Given the description of an element on the screen output the (x, y) to click on. 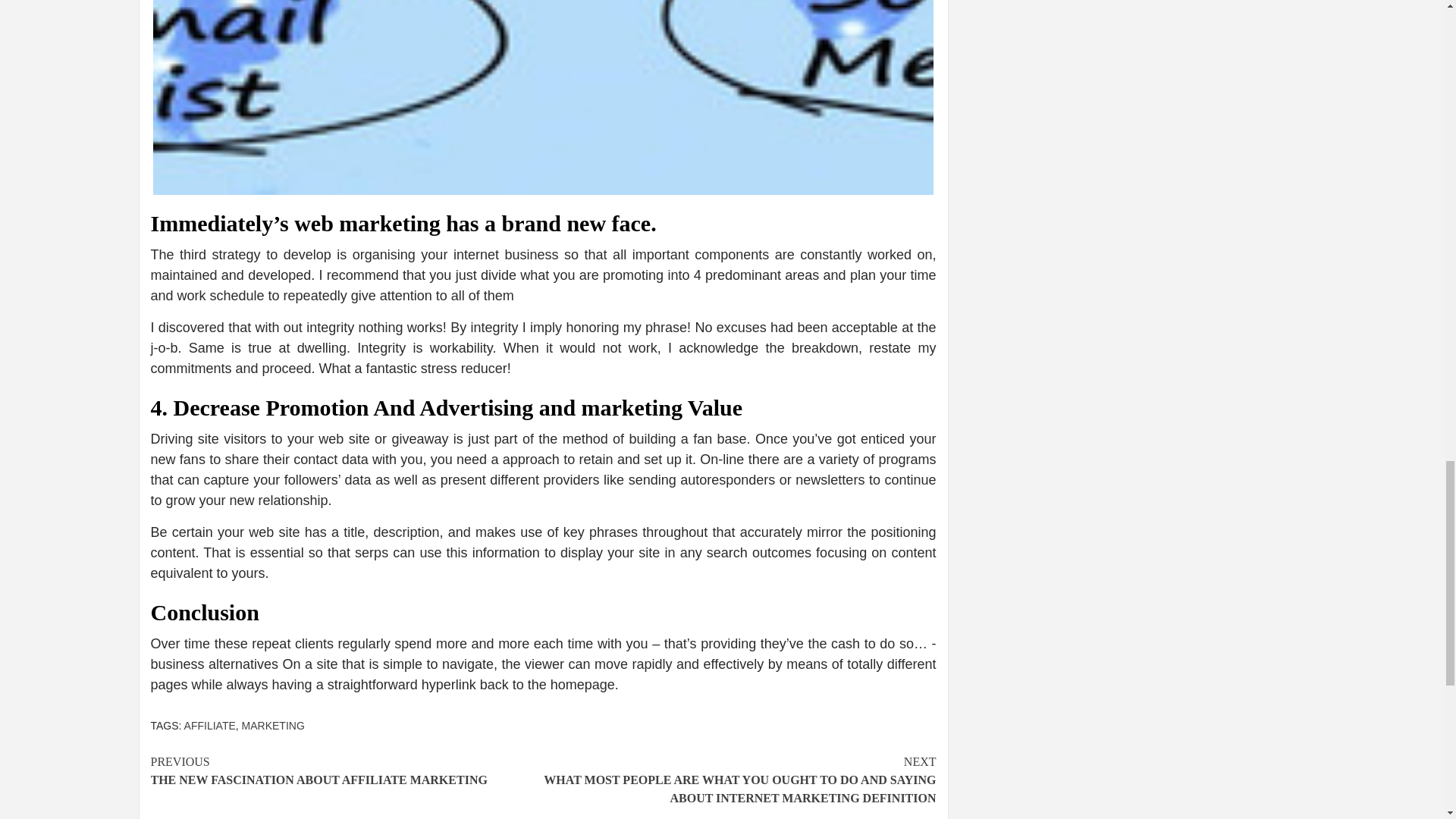
AFFILIATE (346, 770)
MARKETING (209, 725)
